Given the description of an element on the screen output the (x, y) to click on. 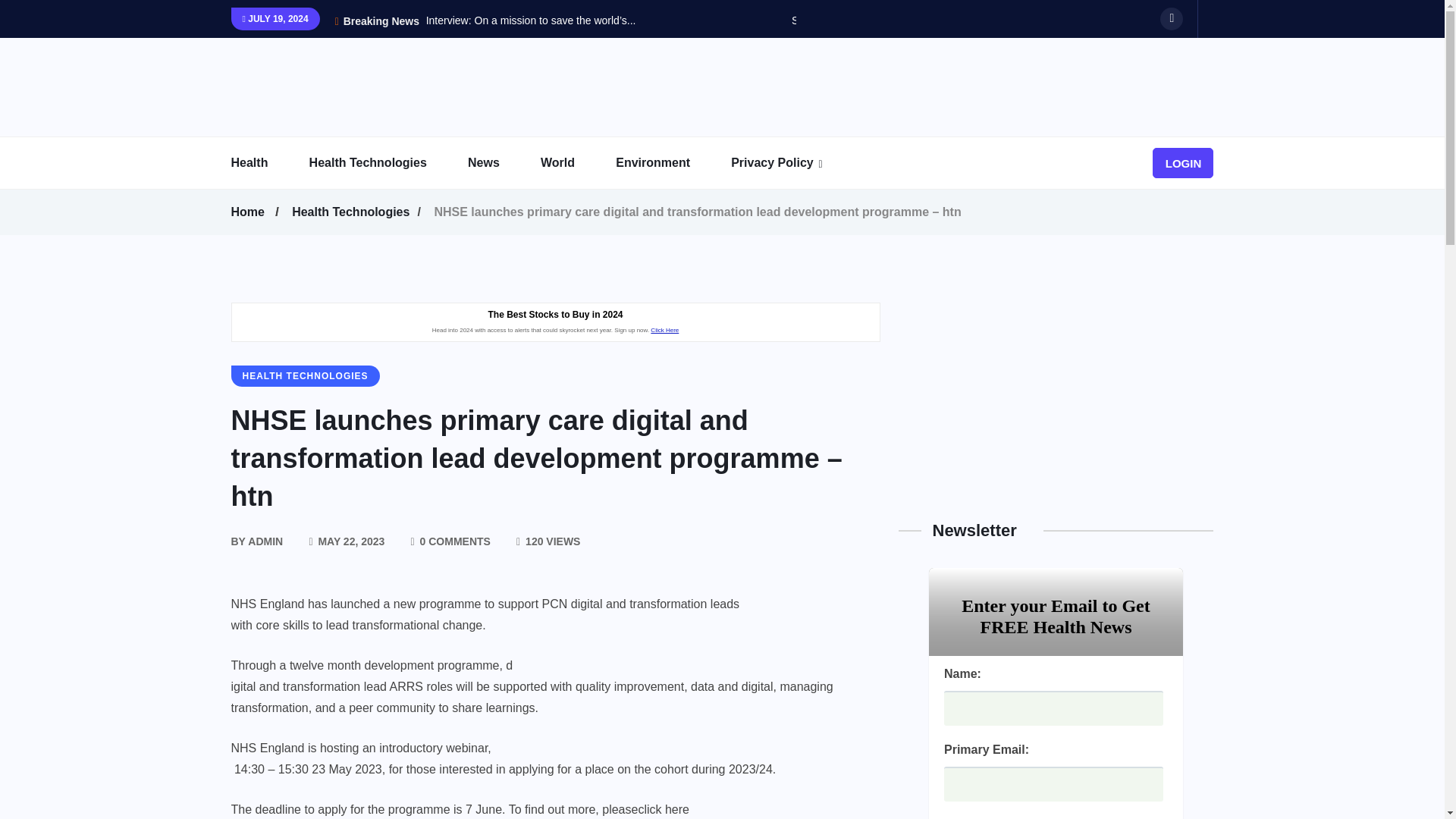
Environment (671, 163)
Home (249, 211)
Health Technologies (386, 163)
click here (662, 809)
Health Technologies (353, 211)
Health (267, 163)
World (576, 163)
News (502, 163)
HEALTH TECHNOLOGIES (304, 375)
Whitelist (825, 204)
Privacy Policy (790, 163)
LOGIN (1182, 163)
